Given the description of an element on the screen output the (x, y) to click on. 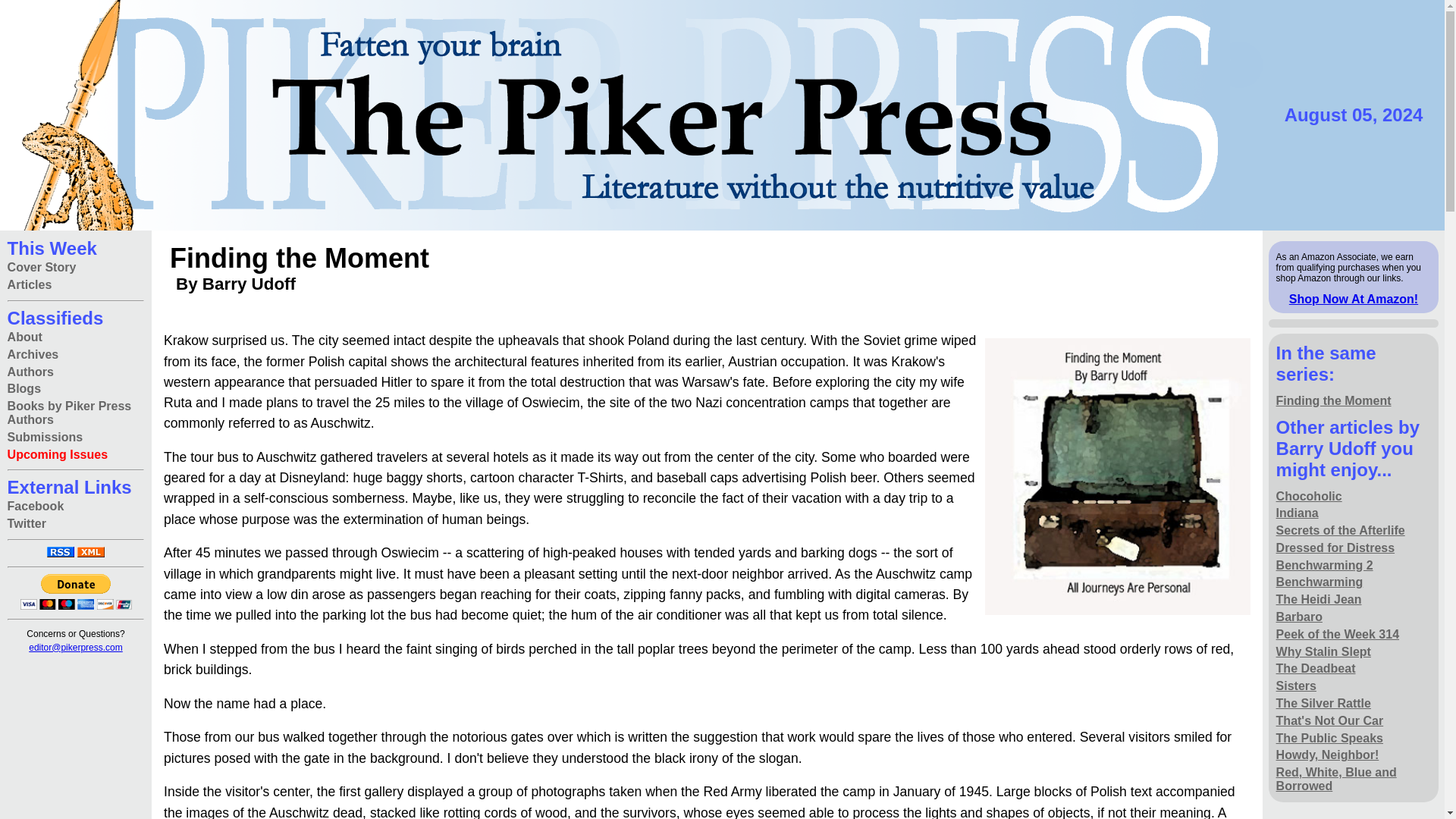
Why Stalin Slept (1323, 651)
About (24, 337)
PayPal - The safer, easier way to pay online! (75, 591)
The Deadbeat (1315, 669)
Benchwarming (1319, 582)
Submissions (44, 437)
Books by Piker Press Authors (75, 413)
The Heidi Jean (1318, 600)
Dressed for Distress (1335, 548)
Articles (29, 285)
The Public Speaks (1329, 737)
Blogs (23, 389)
Facebook (35, 506)
That's Not Our Car (1330, 720)
Peek of the Week 314 (1337, 633)
